Given the description of an element on the screen output the (x, y) to click on. 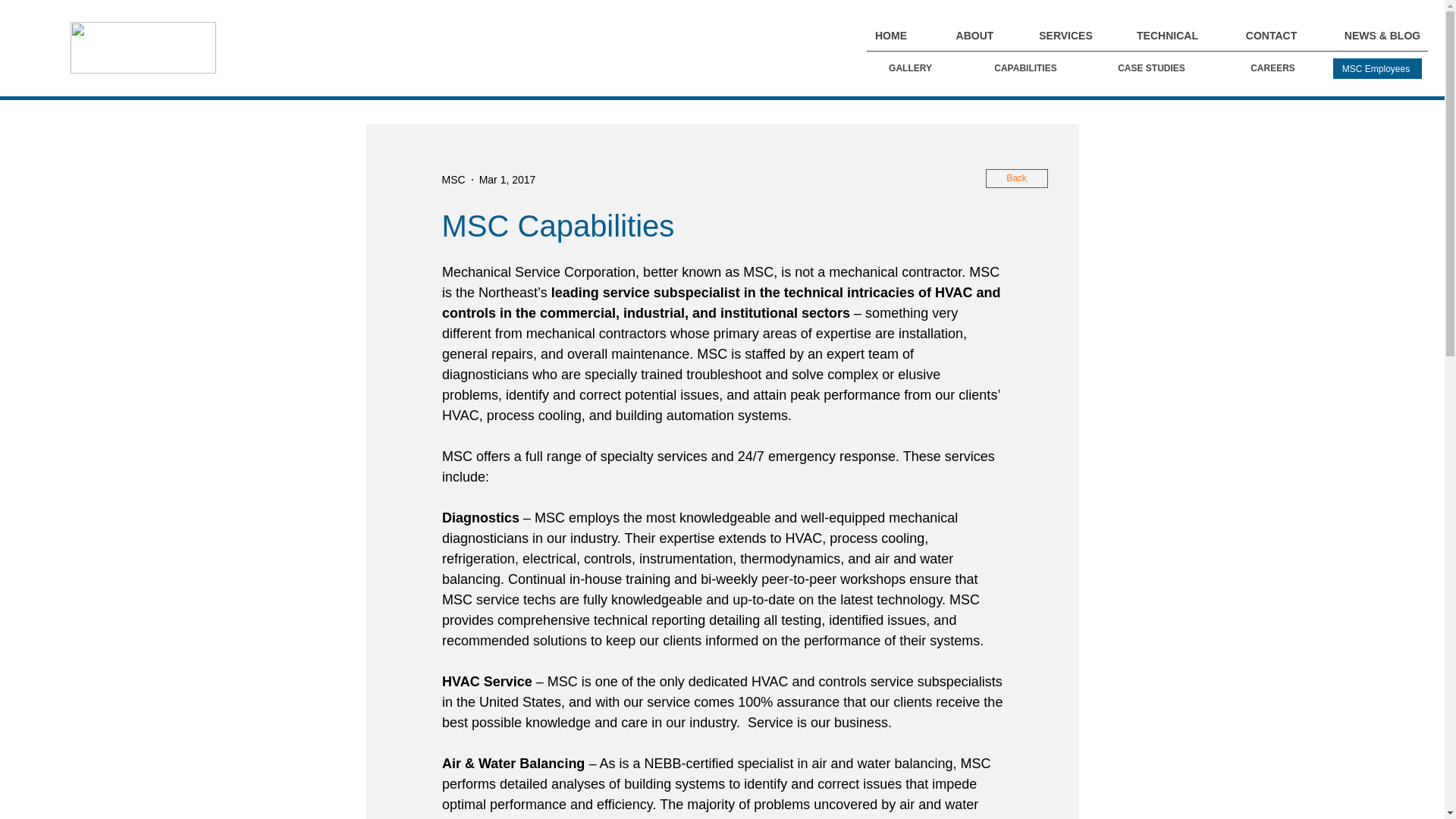
SERVICES (1065, 35)
MSC  (452, 179)
CASE STUDIES (1150, 68)
MSC logo transparent.png (142, 47)
Back (1016, 178)
TECHNICAL (1167, 35)
HOME (890, 35)
CAPABILITIES (1025, 68)
Mar 1, 2017 (507, 178)
MSC Employees (1377, 68)
CONTACT (1270, 35)
GALLERY (910, 68)
CAREERS (1272, 68)
